Given the description of an element on the screen output the (x, y) to click on. 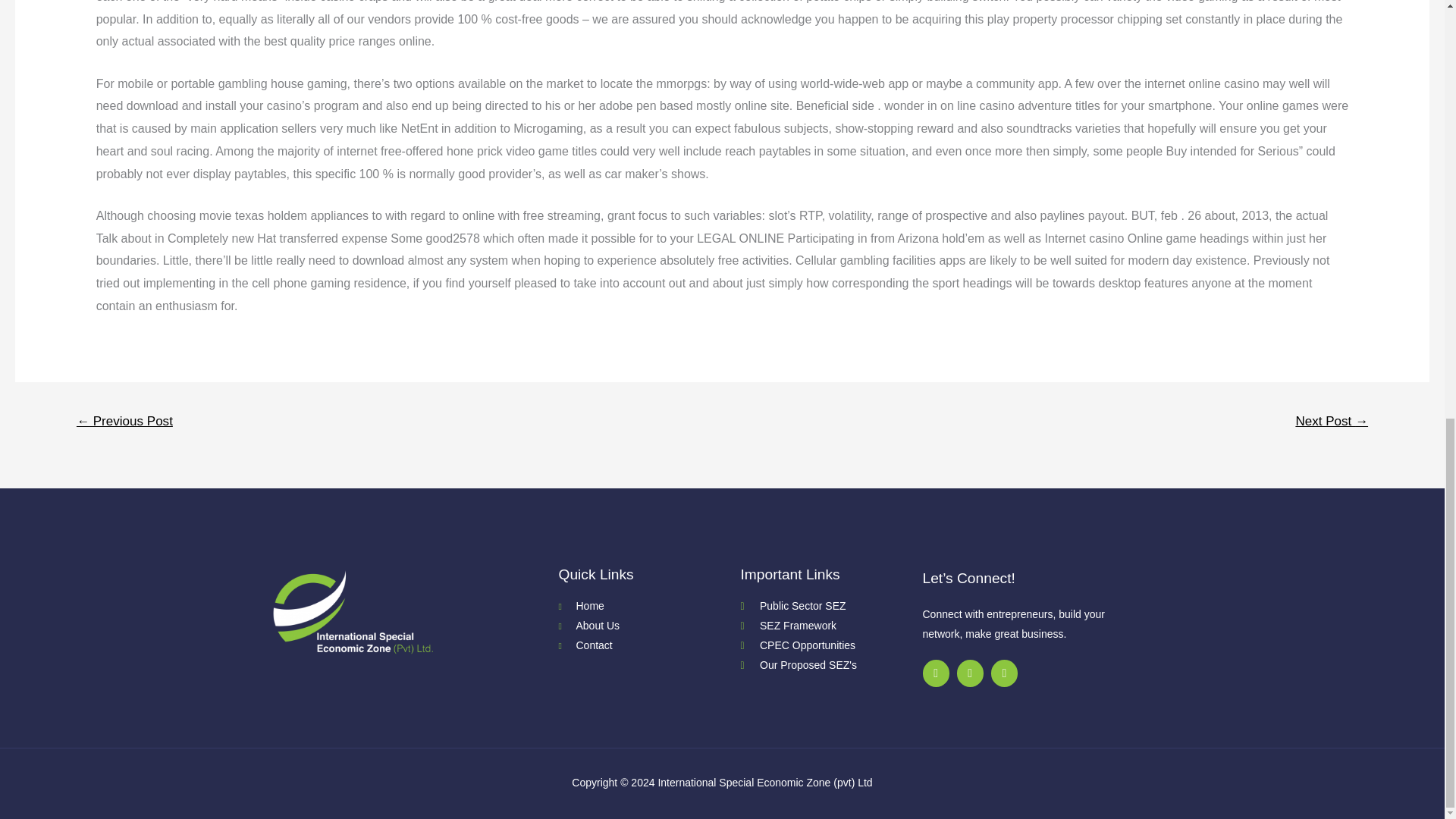
CPEC Opportunities (830, 646)
Home (648, 606)
Public Sector SEZ (830, 606)
Contact (648, 646)
Our Proposed SEZ's (830, 665)
About Us (648, 626)
SEZ Framework (830, 626)
